Given the description of an element on the screen output the (x, y) to click on. 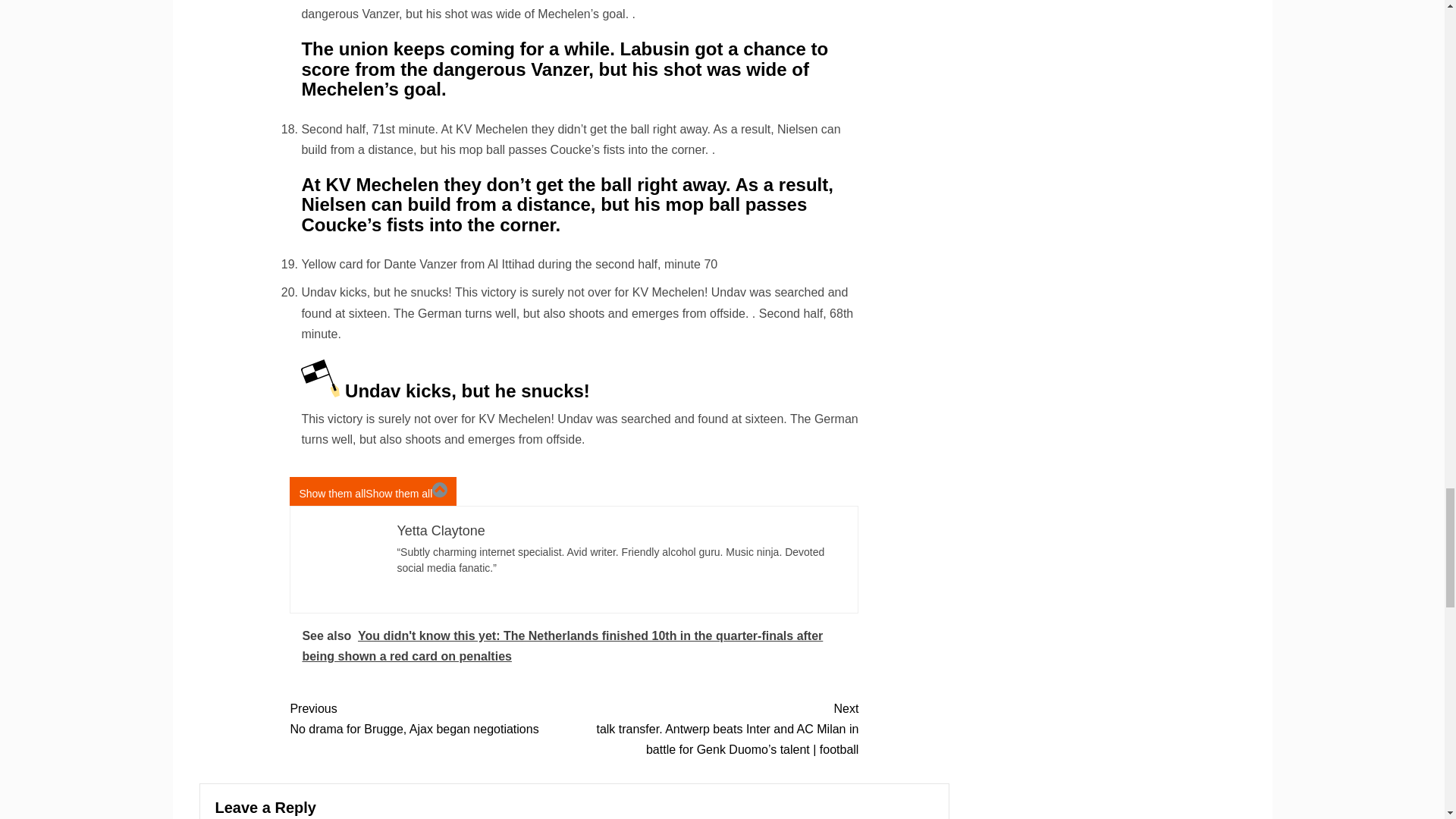
Yetta Claytone (440, 530)
Show them allShow them all (373, 491)
